Given the description of an element on the screen output the (x, y) to click on. 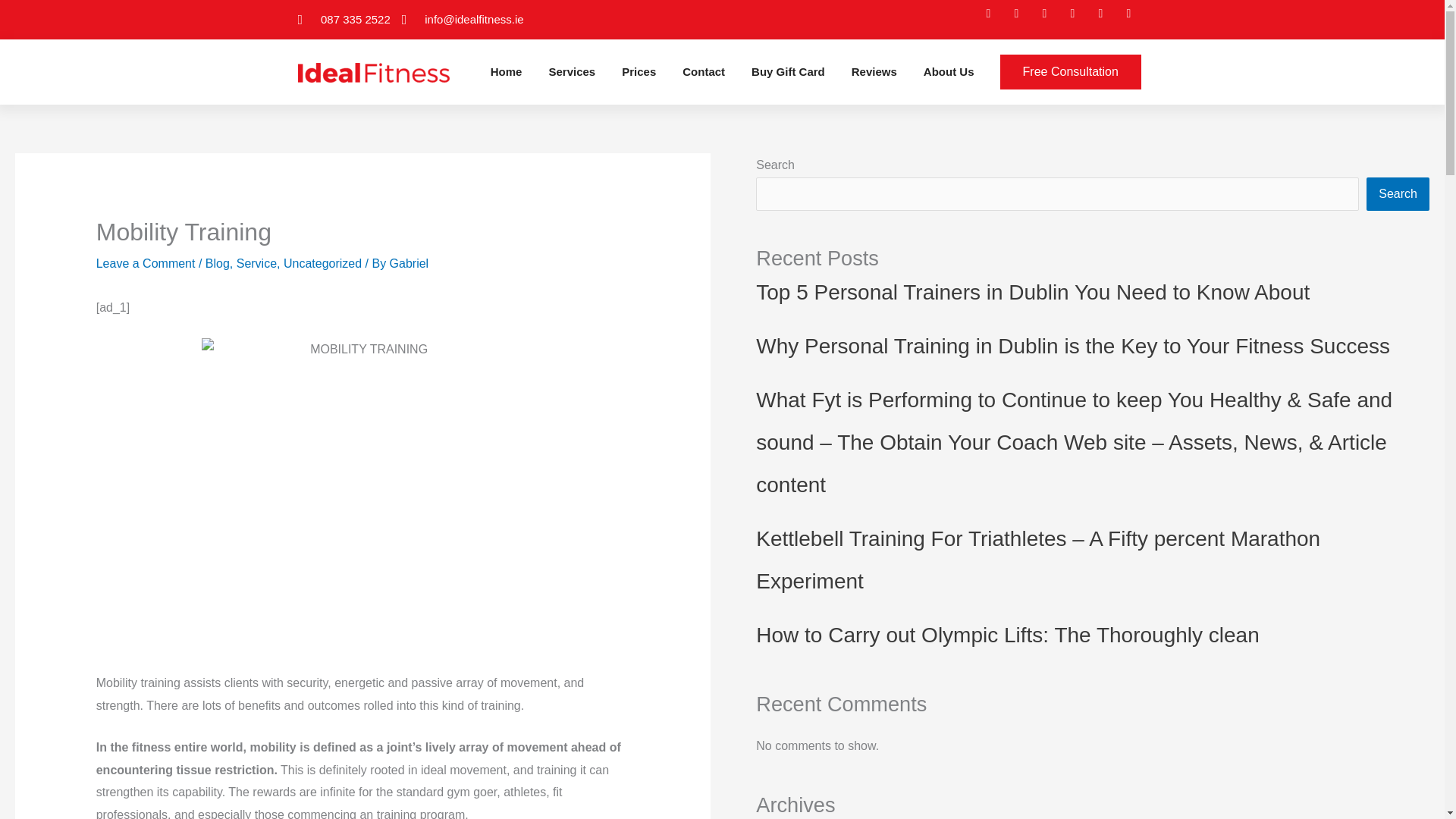
087 335 2522 (343, 19)
Reviews (873, 71)
Services (571, 71)
Contact (703, 71)
Buy Gift Card (788, 71)
Home (506, 71)
View all posts by Gabriel (409, 263)
About Us (948, 71)
Prices (638, 71)
